Given the description of an element on the screen output the (x, y) to click on. 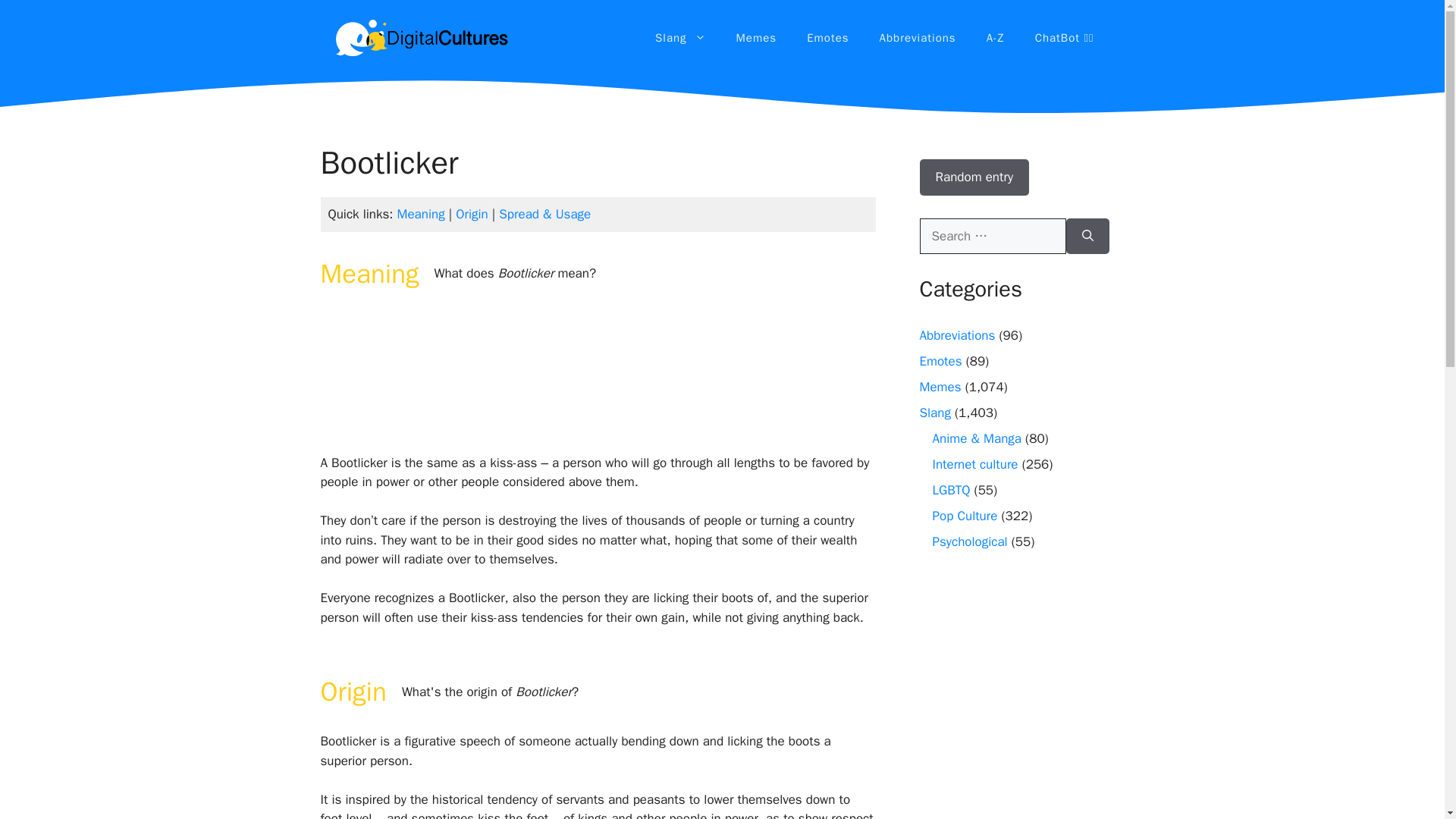
Psychological (970, 541)
Memes (939, 386)
Random entry (973, 176)
Slang (680, 37)
Meaning (421, 213)
Emotes (827, 37)
Abbreviations (956, 335)
Search for: (991, 236)
Slang (934, 412)
A-Z (995, 37)
